Given the description of an element on the screen output the (x, y) to click on. 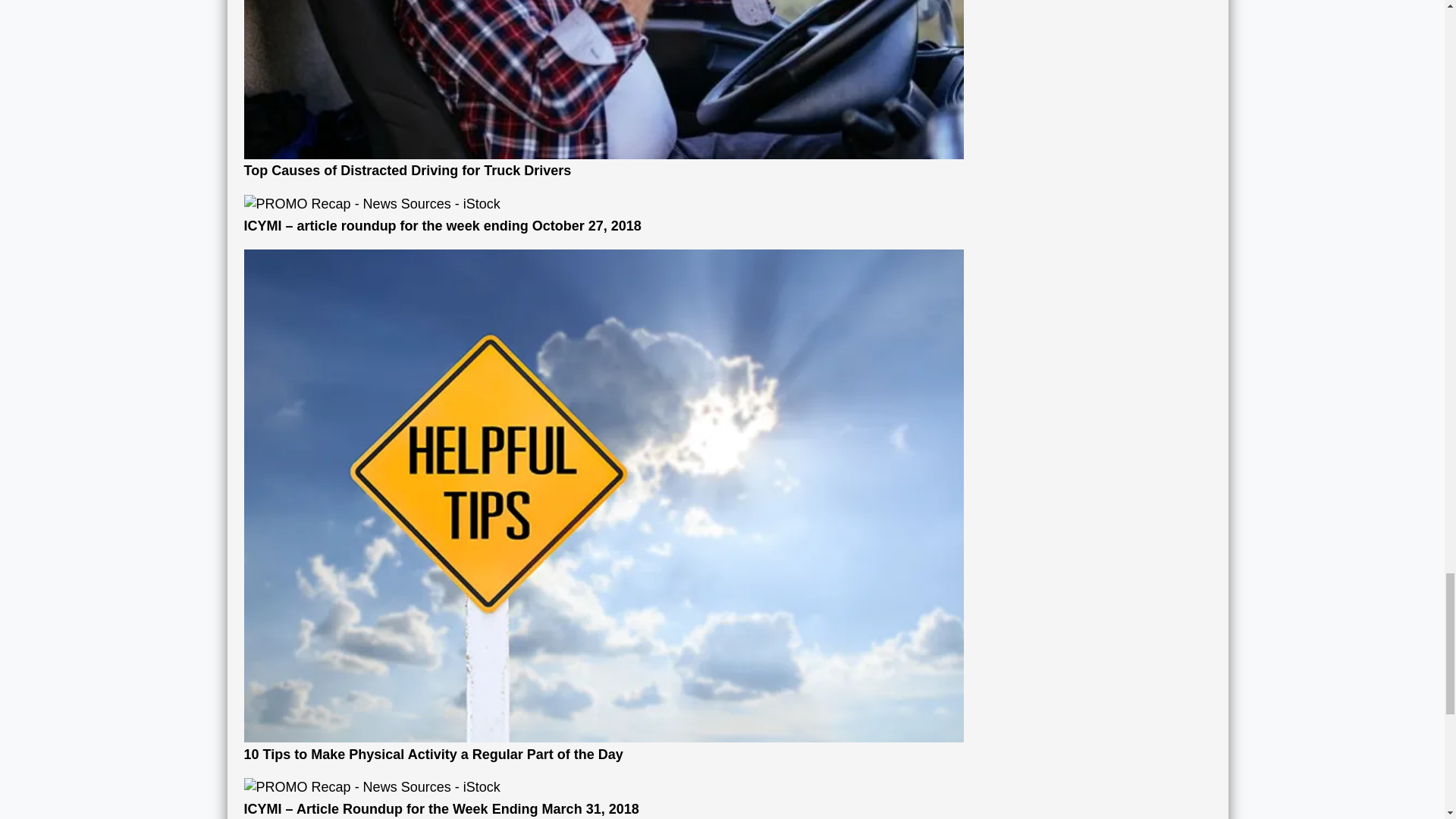
Top Causes of Distracted Driving for Truck Drivers (603, 90)
